Given the description of an element on the screen output the (x, y) to click on. 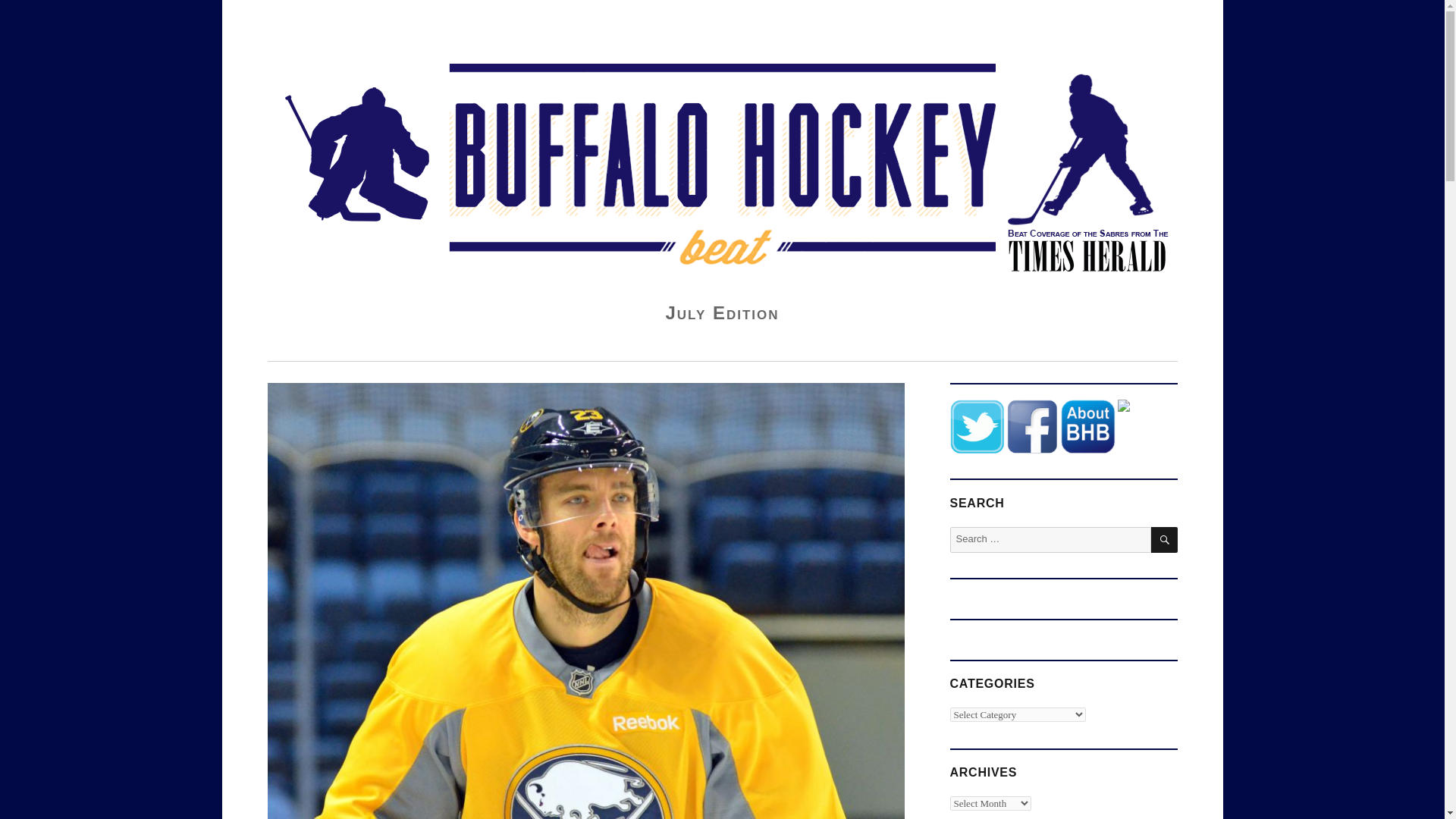
Buffalo Hockey Beat (369, 33)
SEARCH (1164, 539)
